Given the description of an element on the screen output the (x, y) to click on. 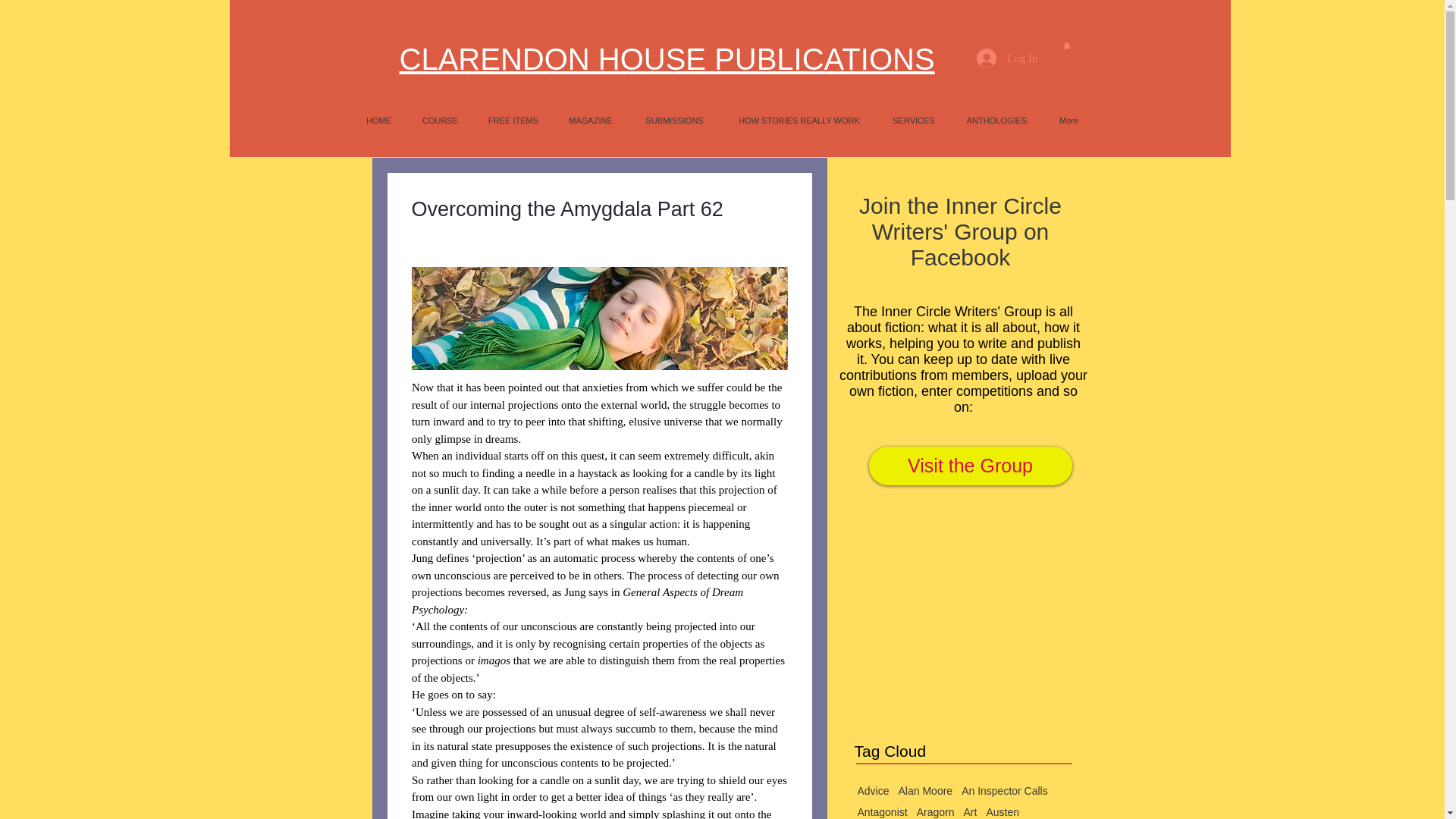
ANTHOLOGIES (996, 120)
SUBMISSIONS (673, 120)
HOME (378, 120)
SERVICES (913, 120)
HOW STORIES REALLY WORK (798, 120)
COURSE (439, 120)
CLARENDON HOUSE PUBLICATIONS (666, 59)
MAGAZINE (590, 120)
FREE ITEMS (513, 120)
